Given the description of an element on the screen output the (x, y) to click on. 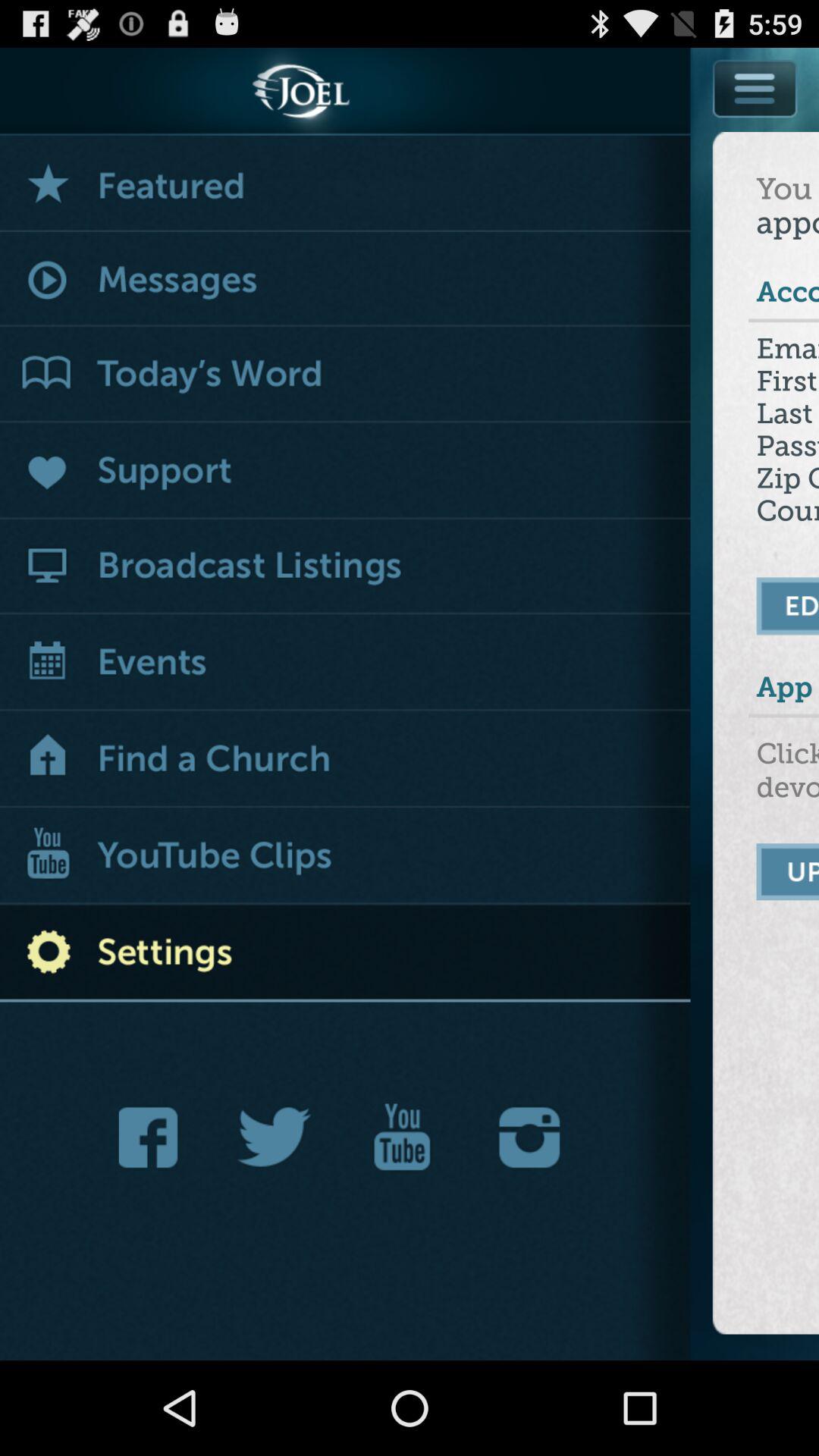
support (345, 471)
